Given the description of an element on the screen output the (x, y) to click on. 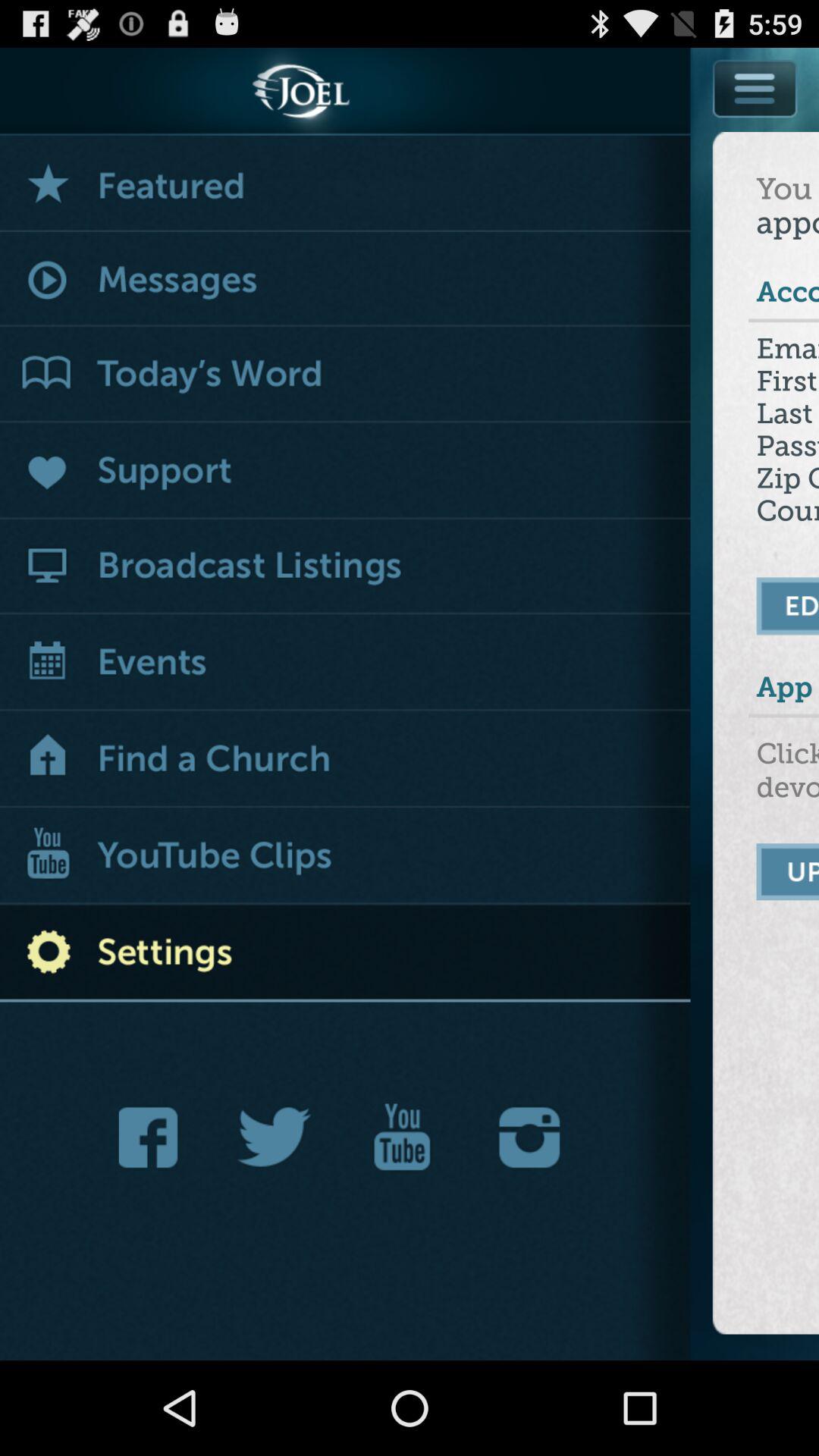
support (345, 471)
